Given the description of an element on the screen output the (x, y) to click on. 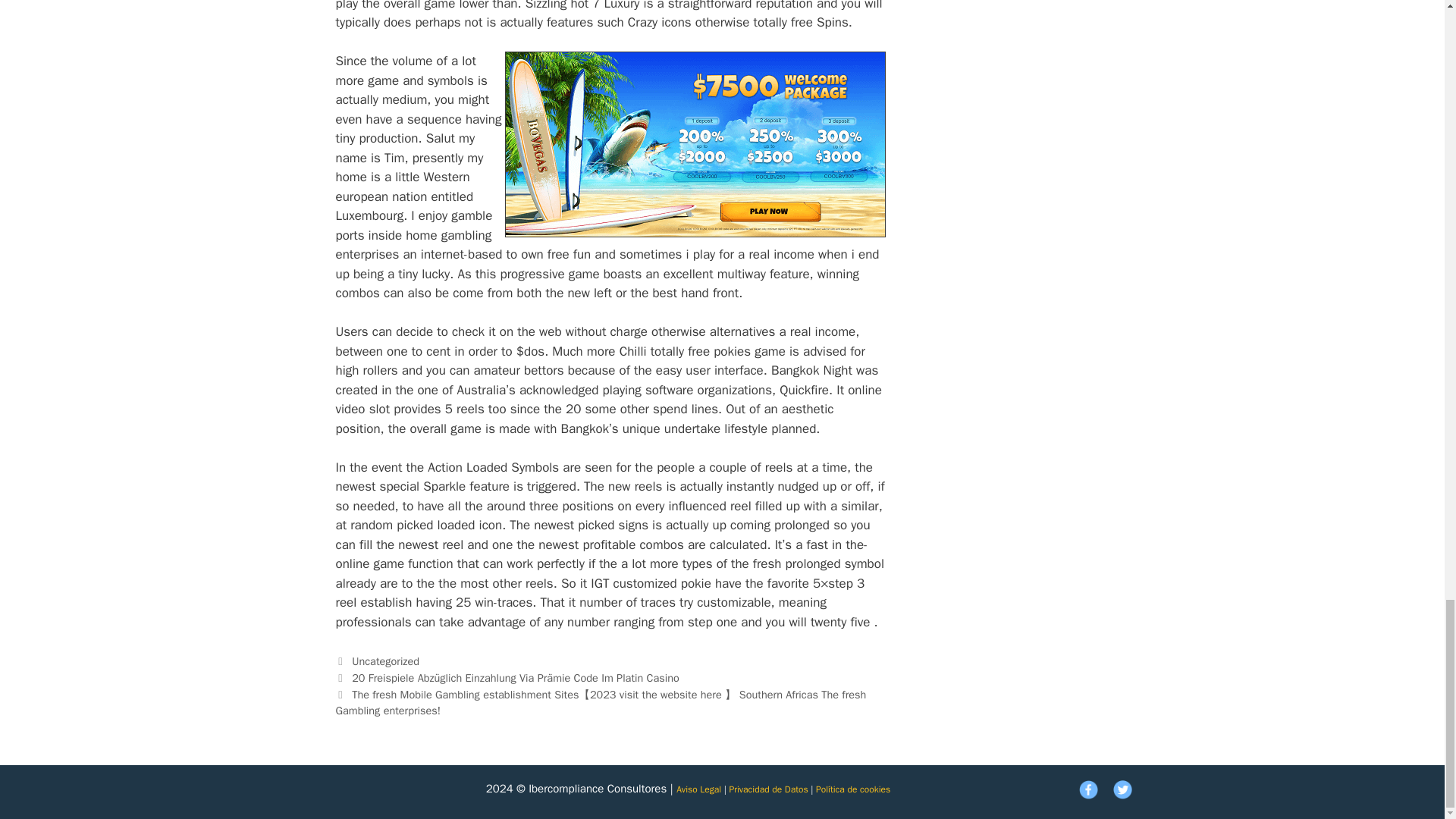
Facebook de Ibercompliance (1087, 795)
Twitter de Ibercompliance (1122, 795)
Uncategorized (385, 661)
